Given the description of an element on the screen output the (x, y) to click on. 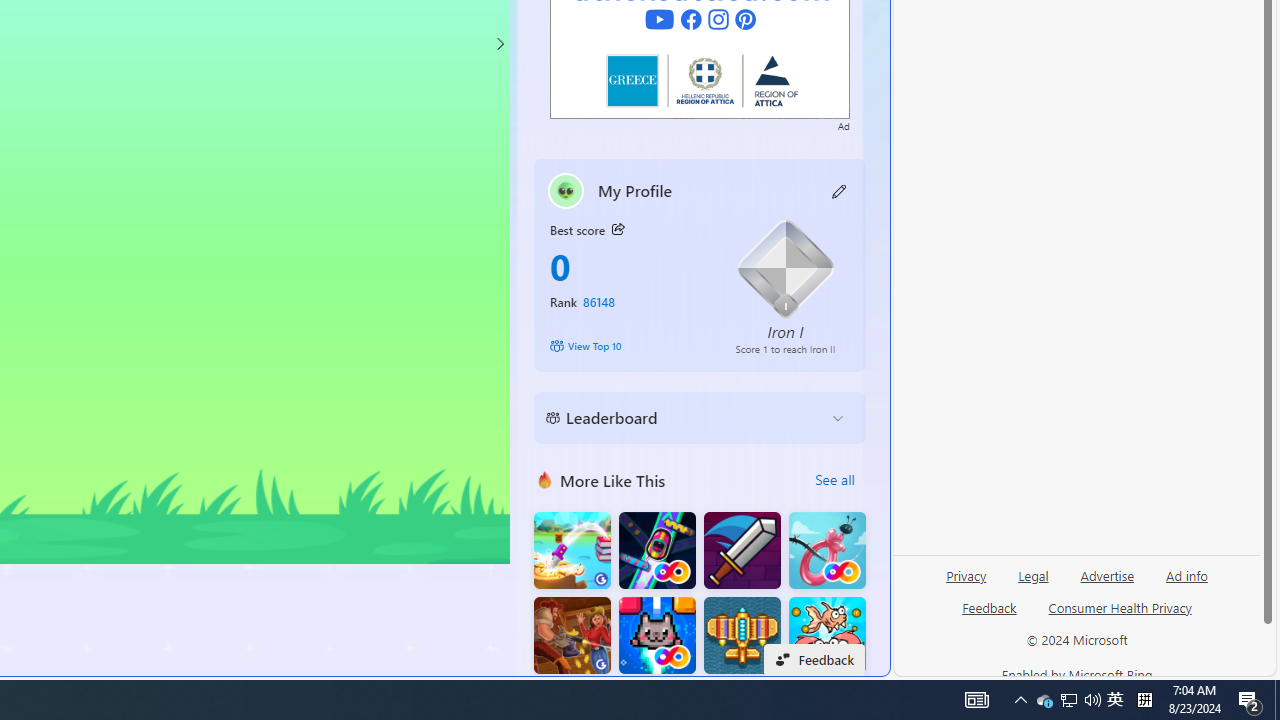
Fish Merge FRVR (827, 635)
Kitten Force FRVR (657, 635)
View Top 10 (628, 345)
Knife Flip (571, 550)
See all (834, 479)
""'s avatar (565, 190)
Dungeon Master Knight (742, 550)
Saloon Robbery (571, 635)
Bumper Car FRVR (657, 550)
